Given the description of an element on the screen output the (x, y) to click on. 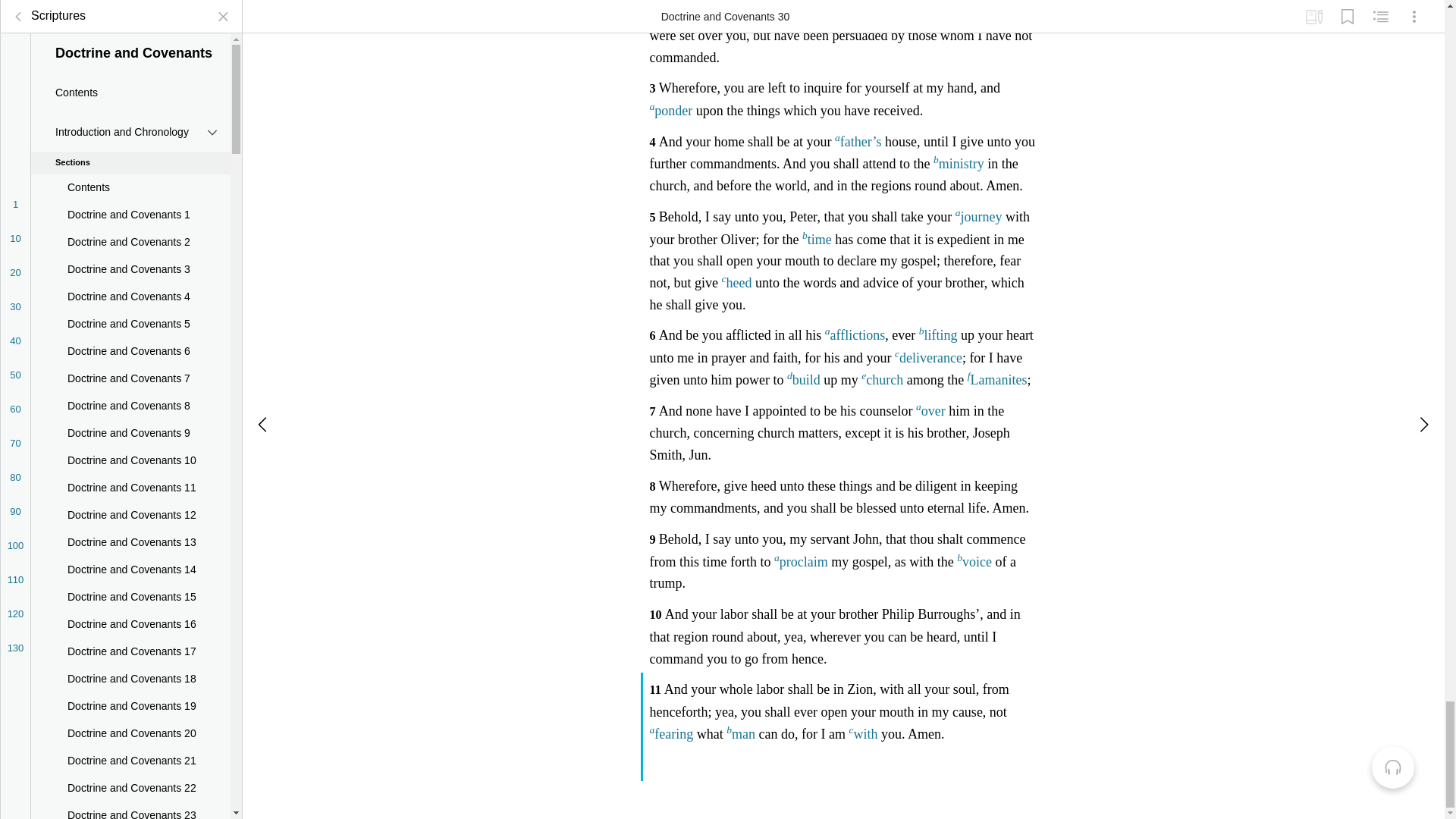
Doctrine and Covenants 15 (130, 166)
100 (15, 114)
110 (15, 148)
Doctrine and Covenants 16 (130, 194)
Doctrine and Covenants 9 (130, 8)
70 (15, 12)
Doctrine and Covenants 11 (130, 57)
Doctrine and Covenants 12 (130, 84)
Doctrine and Covenants 18 (130, 248)
Doctrine and Covenants 13 (130, 112)
Doctrine and Covenants 19 (130, 275)
Doctrine and Covenants 20 (130, 302)
80 (15, 46)
130 (15, 217)
Doctrine and Covenants 17 (130, 221)
